Given the description of an element on the screen output the (x, y) to click on. 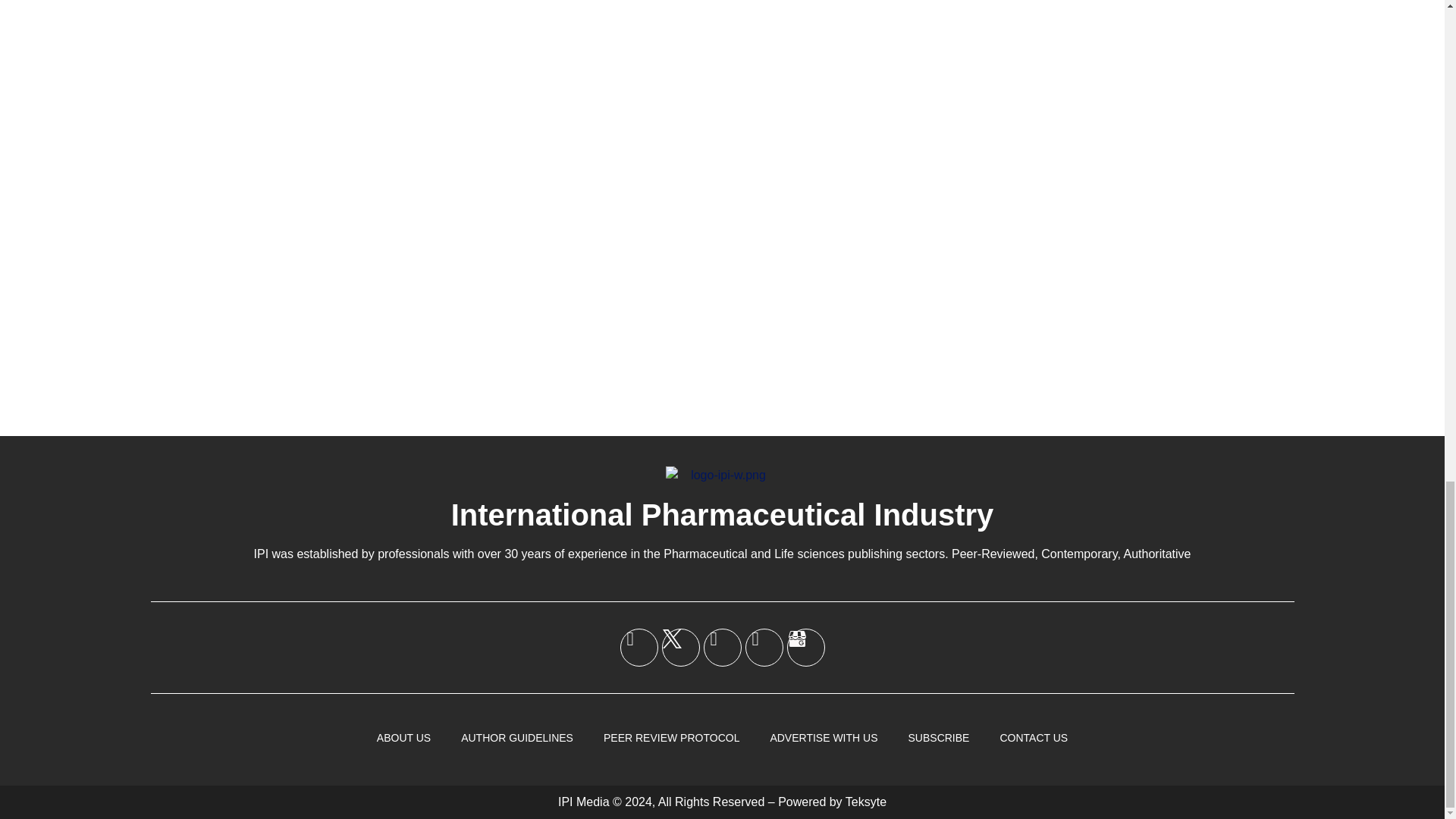
logo-ipi-w.png (721, 475)
Web design services (865, 801)
